Given the description of an element on the screen output the (x, y) to click on. 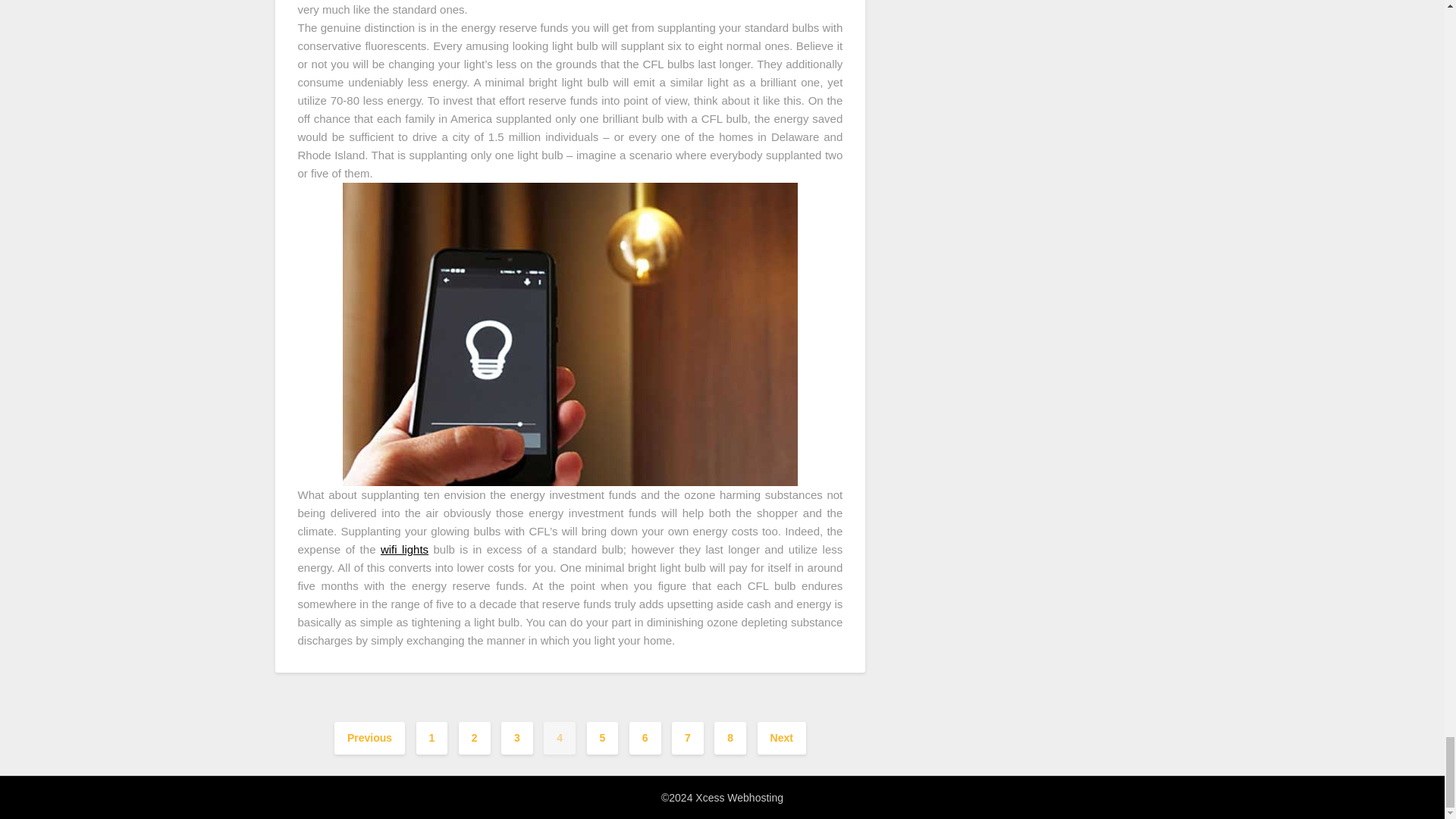
wifi lights (404, 549)
Previous (369, 737)
